Given the description of an element on the screen output the (x, y) to click on. 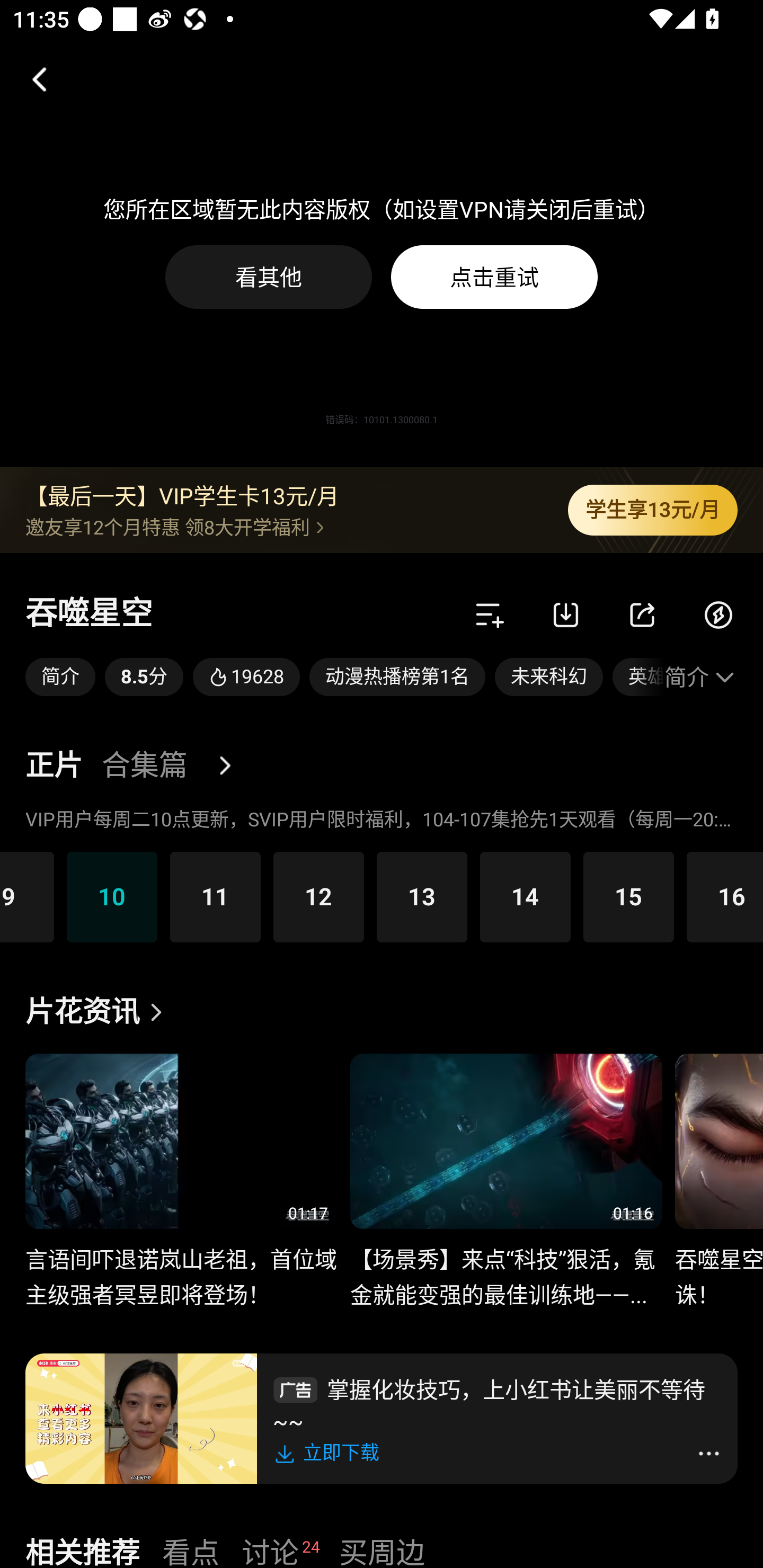
返回，按钮 (31, 78)
看其他 您所在区域暂无此内容版权（如设置VPN请关闭后重试） 看其他按钮 (268, 276)
点击重试 您所在区域暂无此内容版权（如设置VPN请关闭后重试） 点击重试按钮 (493, 276)
学生享13元/月 (652, 510)
邀友享12个月特惠 领8大开学福利 (283, 526)
吞噬星空 (88, 614)
加追,双击可加追,按钮 (489, 614)
下载,链接 (566, 614)
分享,链接 (642, 614)
发电,链接 (718, 614)
简介 简介,链接 (60, 677)
8.5分 8.5分,链接 (144, 677)
19628 热度值 19628,链接 (246, 677)
动漫热播榜第1名 动漫热播榜第1名,链接 (397, 677)
未来科幻 未来科幻,链接 (548, 677)
英雄成长 英雄成长,链接 (638, 677)
简介 (700, 677)
正片 (53, 765)
合集篇 (144, 765)
更多,链接 (231, 765)
第9集 9 (27, 896)
第10集 10 (112, 896)
第11集 11 (215, 896)
第12集 12 (318, 896)
第13集 13 (421, 896)
第14集 14 (524, 896)
第15集 15 (628, 896)
第16集 16 (724, 896)
片花资讯 链接 (98, 1011)
言语间吓退诺岚山老祖，首位域主级强者冥昱即将登场！ (181, 1267)
【场景秀】来点“科技”狠活，氪金就能变强的最佳训练地——... (506, 1267)
imgimg掌握化妆技巧，上小红书让美丽不等待~~ (497, 1403)
立即下载 (330, 1452)
相关推荐 (82, 1549)
看点 (190, 1549)
讨论 (270, 1549)
买周边 (381, 1549)
